Given the description of an element on the screen output the (x, y) to click on. 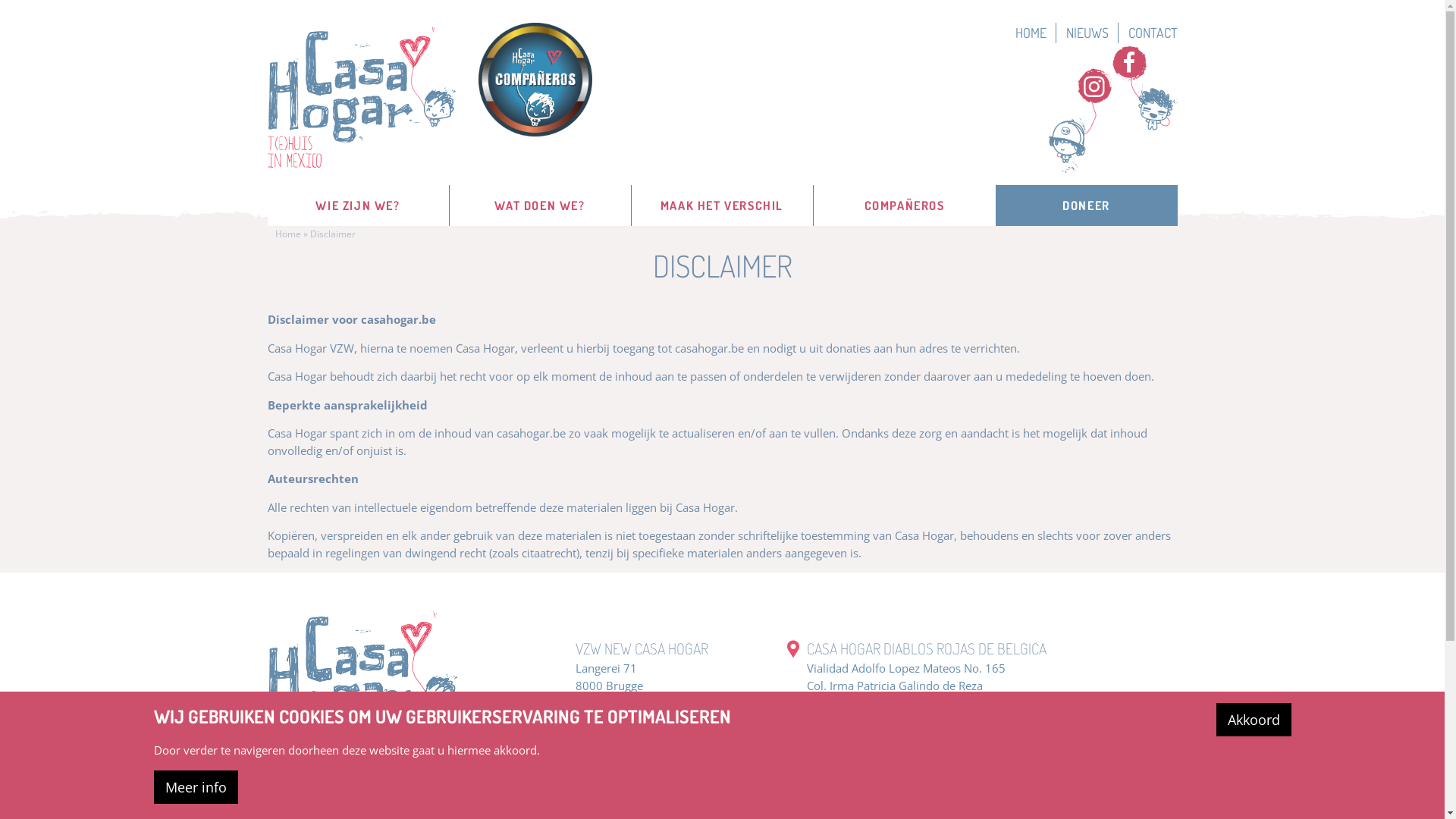
MAP Element type: text (793, 648)
HOME Element type: text (1034, 32)
Home Element type: text (287, 233)
CONTACT Element type: text (1152, 32)
Home Element type: hover (360, 95)
NIEUWS Element type: text (1092, 32)
MAAK HET VERSCHIL Element type: text (721, 205)
WAT DOEN WE? Element type: text (539, 205)
+32 50 33 66 11 Element type: text (618, 701)
DONEER Element type: text (1085, 205)
Meer info Element type: text (195, 786)
WIE ZIJN WE? Element type: text (357, 205)
Overslaan en naar de inhoud gaan Element type: text (89, 204)
Contact Element type: text (595, 718)
Akkoord Element type: text (1253, 719)
